Given the description of an element on the screen output the (x, y) to click on. 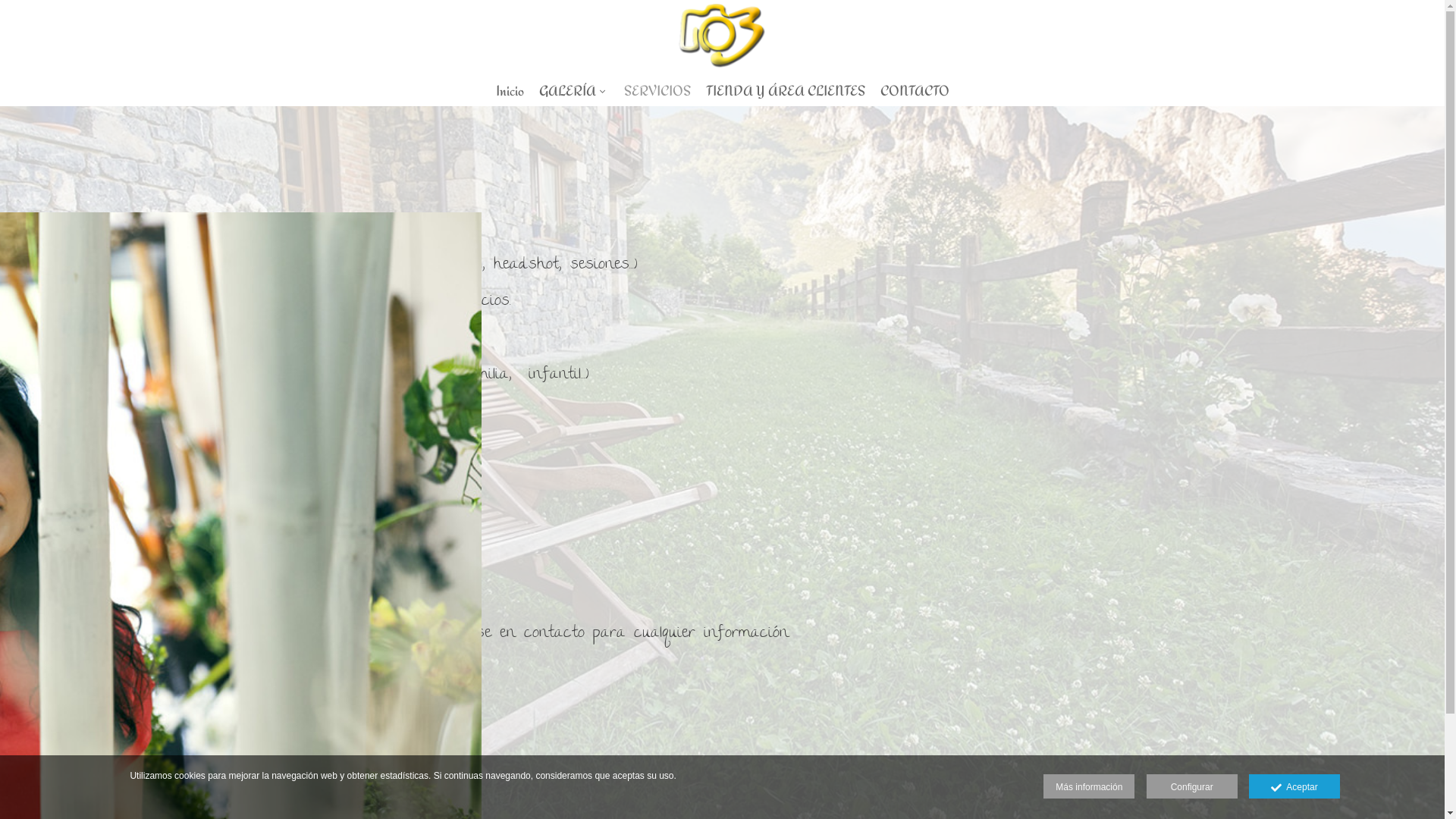
CONTACTO Element type: text (913, 91)
SERVICIOS Element type: text (656, 91)
  Aceptar Element type: text (1293, 786)
Configurar Element type: text (1191, 786)
Inicio Element type: text (509, 91)
